Given the description of an element on the screen output the (x, y) to click on. 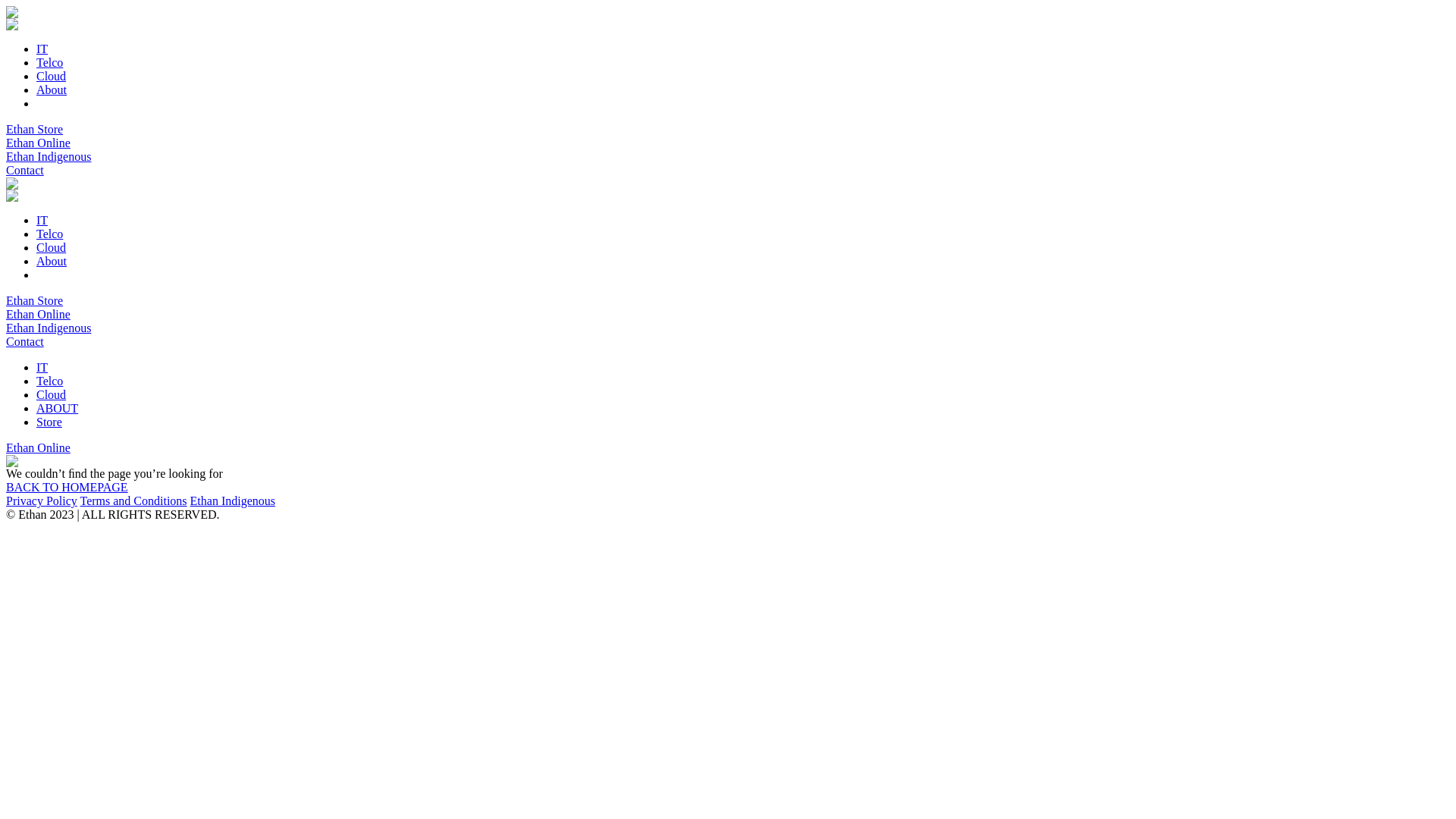
IT Element type: text (41, 219)
BACK TO HOMEPAGE Element type: text (67, 486)
Ethan Store Element type: text (34, 300)
Telco Element type: text (49, 380)
Ethan Online Element type: text (38, 447)
About Element type: text (51, 89)
Ethan Online Element type: text (38, 313)
Ethan Indigenous Element type: text (232, 500)
Privacy Policy Element type: text (41, 500)
Cloud Element type: text (50, 394)
Ethan Indigenous Element type: text (48, 327)
Ethan Store Element type: text (34, 128)
Cloud Element type: text (50, 247)
Store Element type: text (49, 421)
Telco Element type: text (49, 233)
Terms and Conditions Element type: text (132, 500)
ABOUT Element type: text (57, 407)
Ethan Indigenous Element type: text (48, 156)
Telco Element type: text (49, 62)
Contact Element type: text (24, 169)
Cloud Element type: text (50, 75)
Ethan Online Element type: text (38, 142)
About Element type: text (51, 260)
IT Element type: text (41, 366)
Contact Element type: text (24, 341)
IT Element type: text (41, 48)
